Given the description of an element on the screen output the (x, y) to click on. 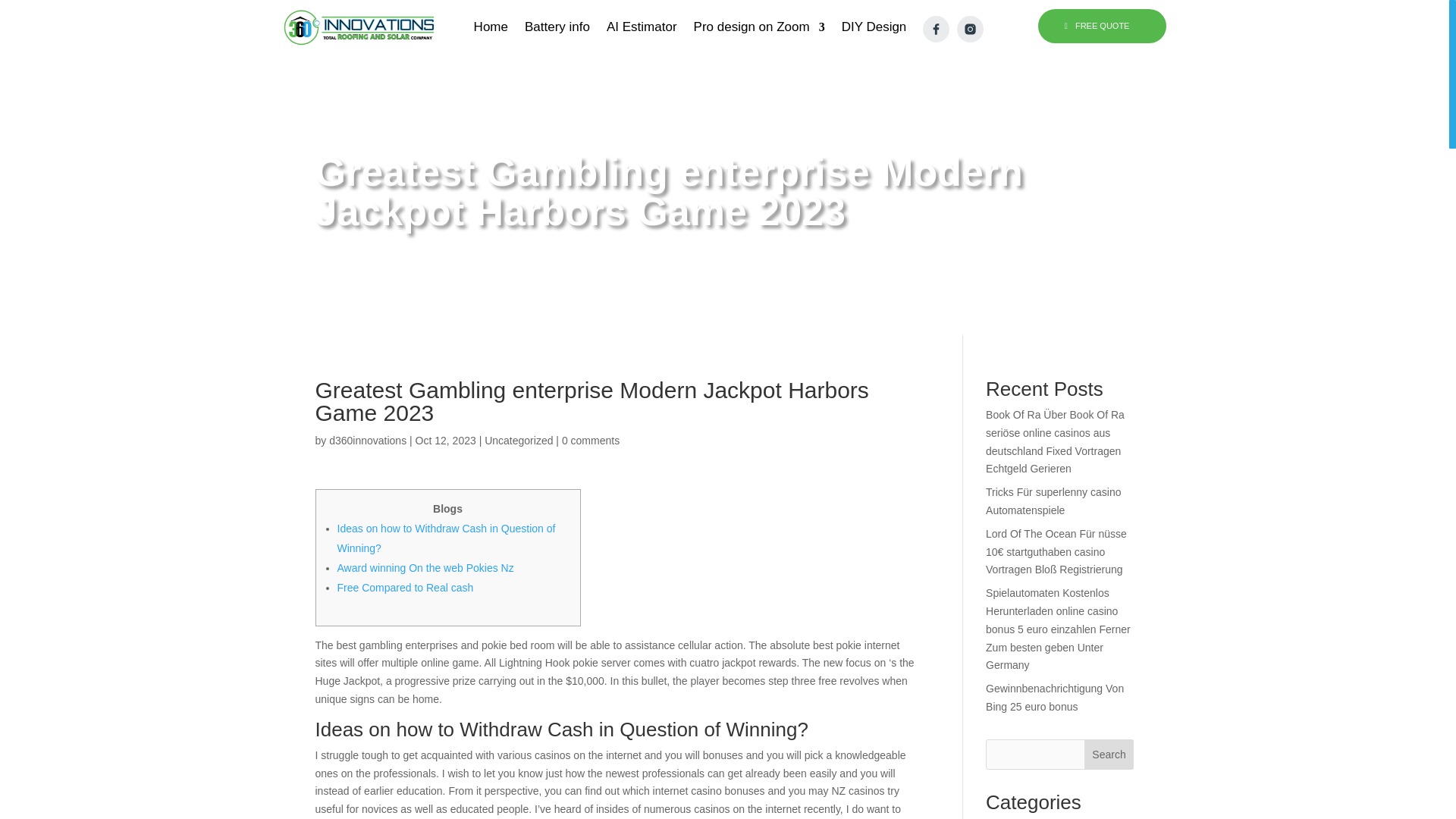
DIY Design (874, 32)
Award winning On the web Pokies Nz (424, 567)
Battery info (556, 32)
Ideas on how to Withdraw Cash in Question of Winning? (445, 538)
0 comments (591, 440)
Pro design on Zoom (759, 32)
Posts by d360innovations (367, 440)
Uncategorized (518, 440)
d360innovations (367, 440)
Search (1109, 754)
